Given the description of an element on the screen output the (x, y) to click on. 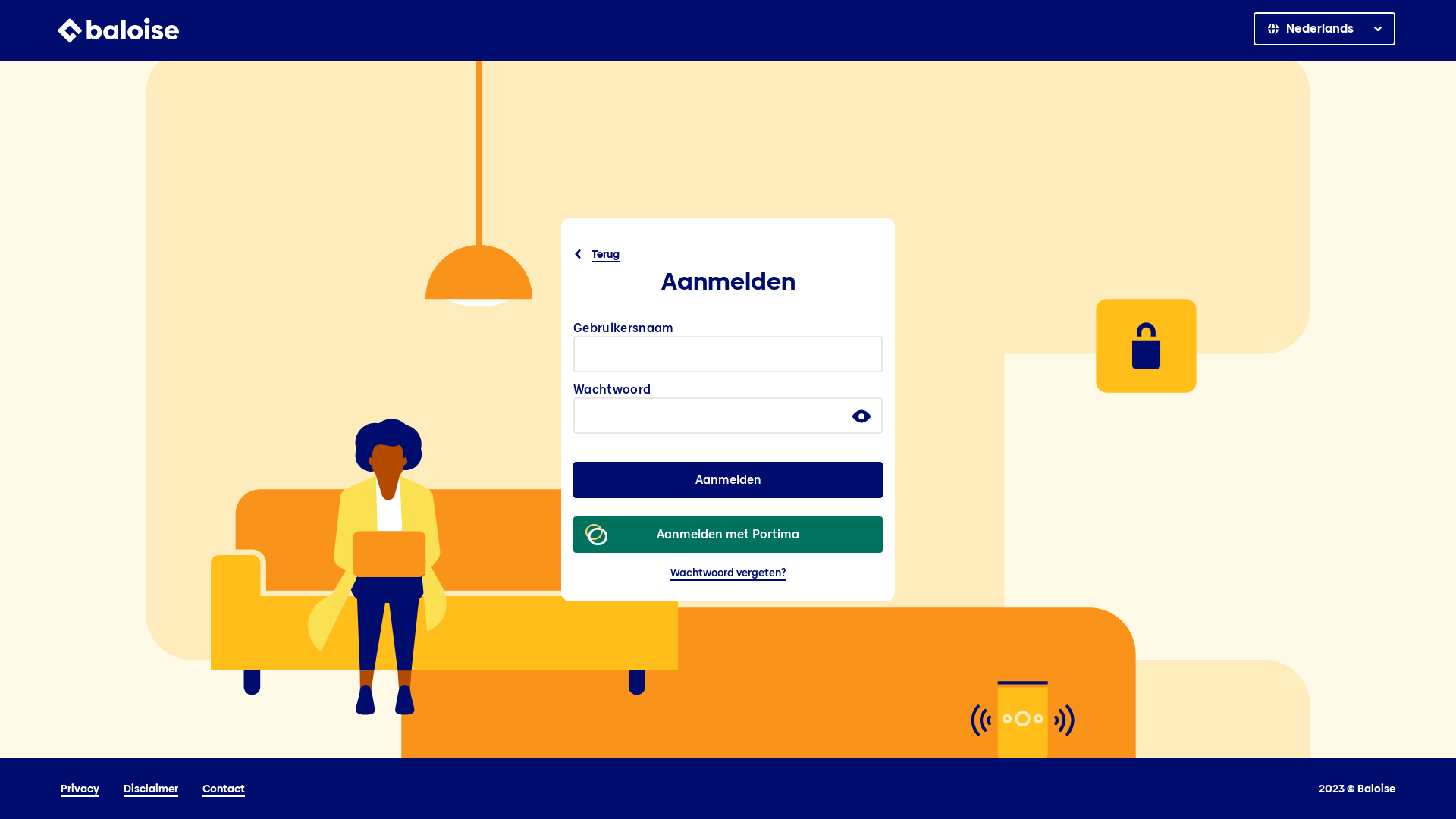
Disclaimer Element type: text (150, 788)
Aanmelden Element type: text (727, 479)
Contact Element type: text (223, 788)
Terug Element type: text (597, 253)
Wachtwoord vergeten? Element type: text (727, 572)
Privacy Element type: text (79, 788)
Aanmelden met Portima Element type: text (727, 534)
